Given the description of an element on the screen output the (x, y) to click on. 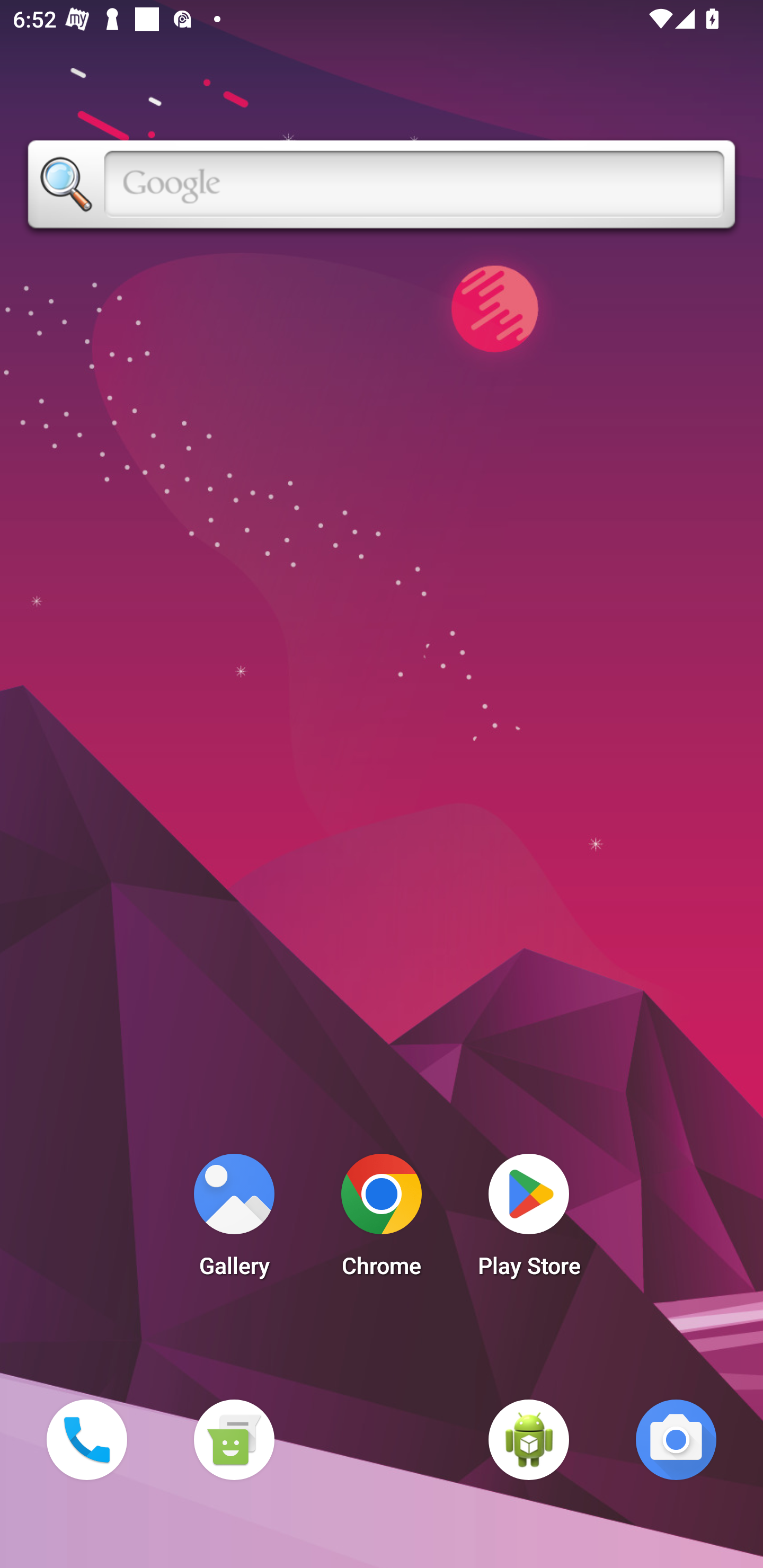
Gallery (233, 1220)
Chrome (381, 1220)
Play Store (528, 1220)
Phone (86, 1439)
Messaging (233, 1439)
WebView Browser Tester (528, 1439)
Camera (676, 1439)
